Given the description of an element on the screen output the (x, y) to click on. 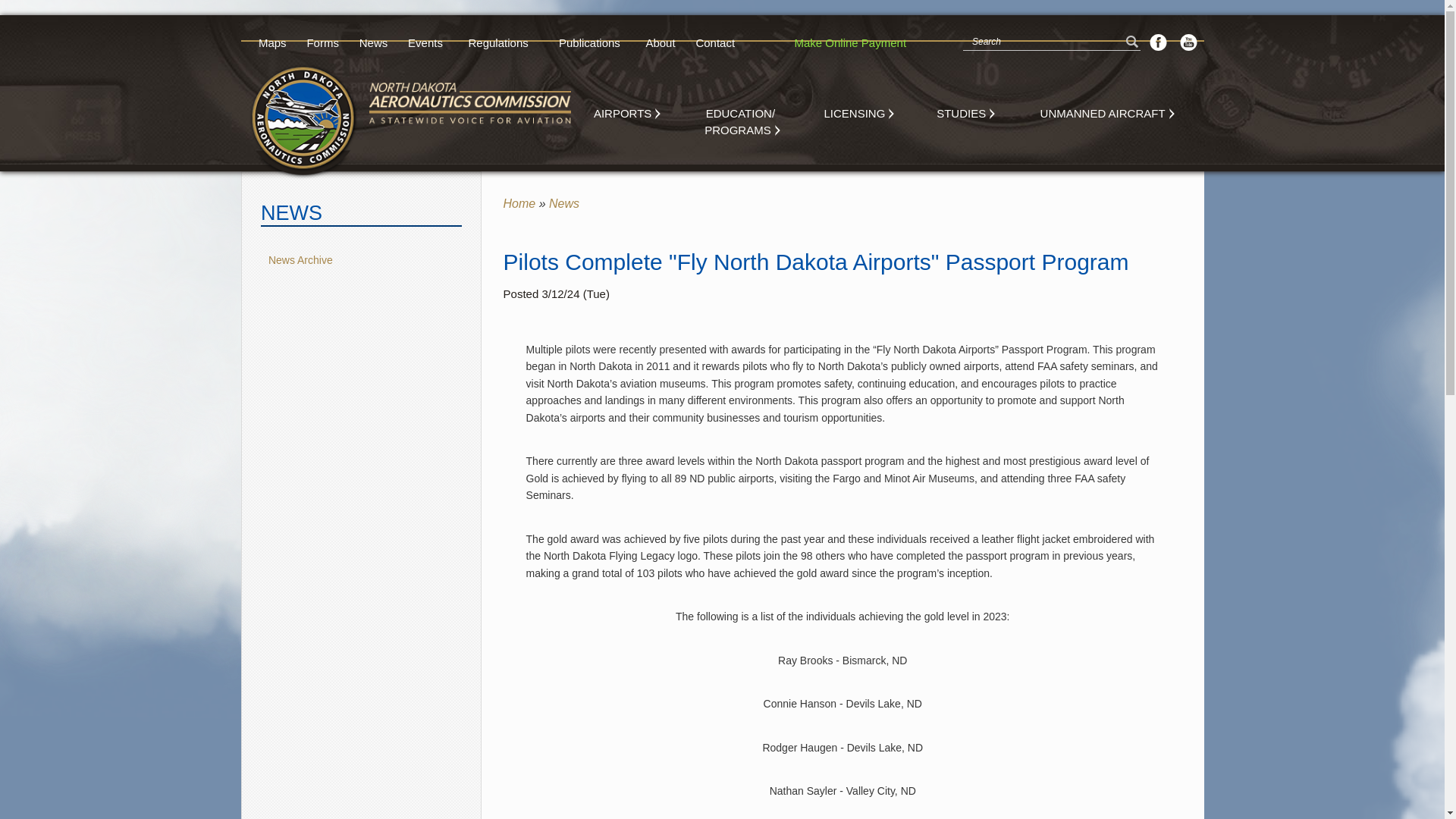
ND Aeronautics Facebook Page (1158, 42)
ND Aeronautics YouTube Channel (1187, 42)
About (659, 42)
Make Online Payment (850, 42)
Contact (715, 42)
AIRPORTS (624, 114)
News (373, 42)
Maps (272, 42)
Regulations (497, 42)
Publications (588, 42)
Events (424, 42)
Forms (323, 42)
LICENSING (857, 114)
